Given the description of an element on the screen output the (x, y) to click on. 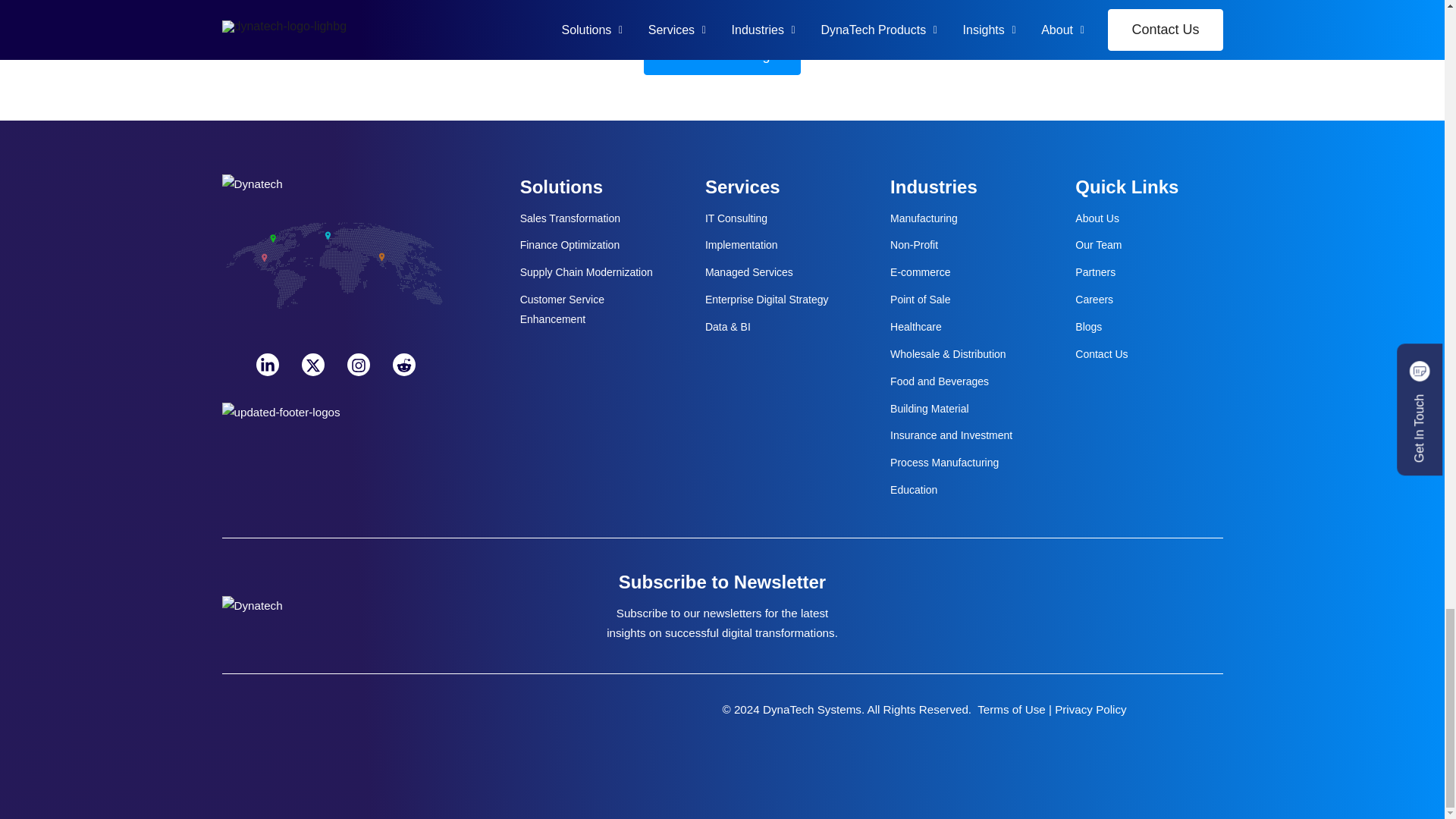
Twitter (312, 363)
Dynatech (251, 605)
Linkedin (267, 363)
map-02 (334, 273)
Instagram (358, 363)
updated-footer-logos (280, 400)
Dynatech (251, 184)
Terms of Use (1010, 708)
Reddit (403, 363)
